Given the description of an element on the screen output the (x, y) to click on. 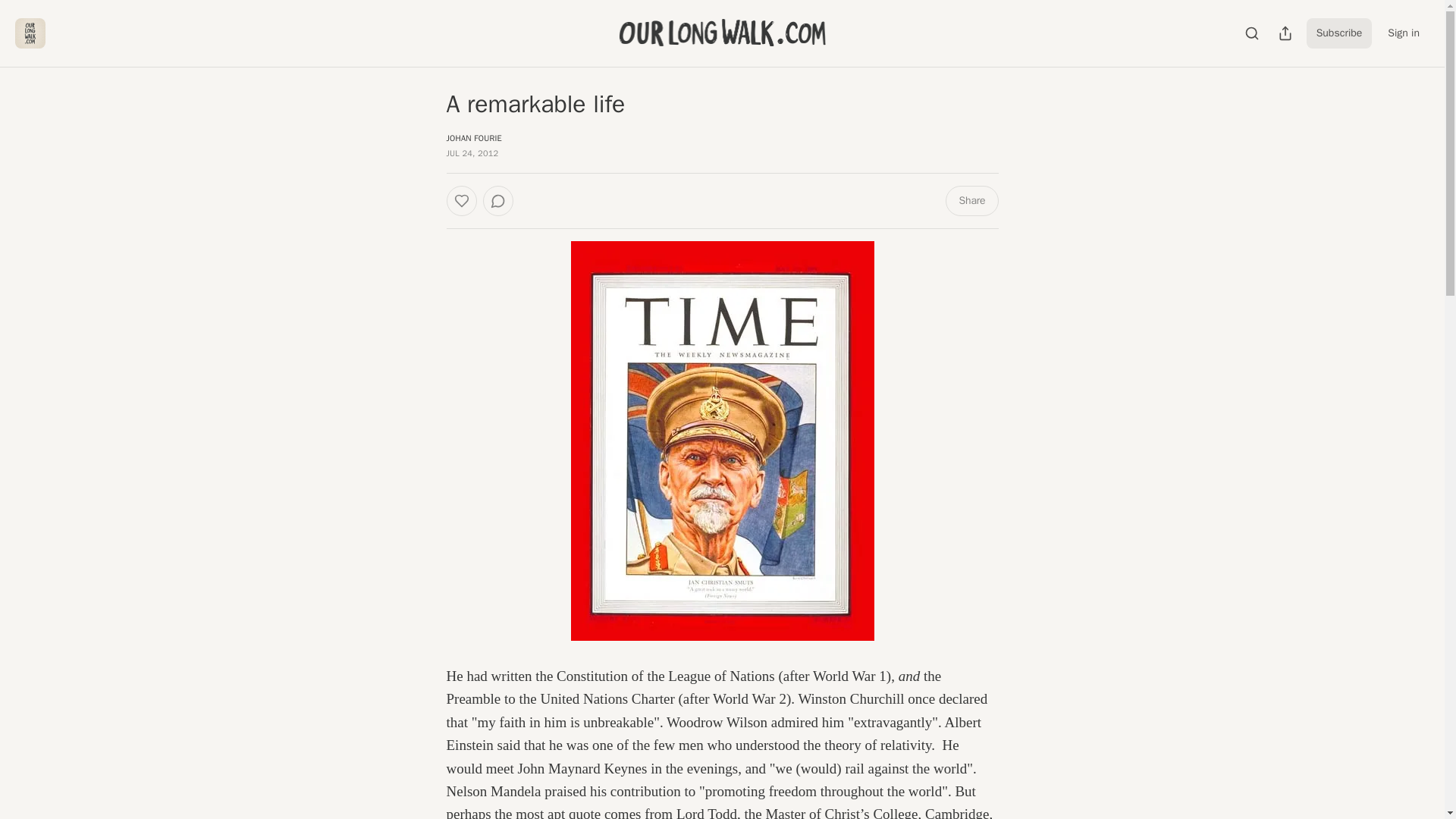
JOHAN FOURIE (472, 137)
Subscribe (1339, 33)
Share (970, 200)
Sign in (1403, 33)
